Given the description of an element on the screen output the (x, y) to click on. 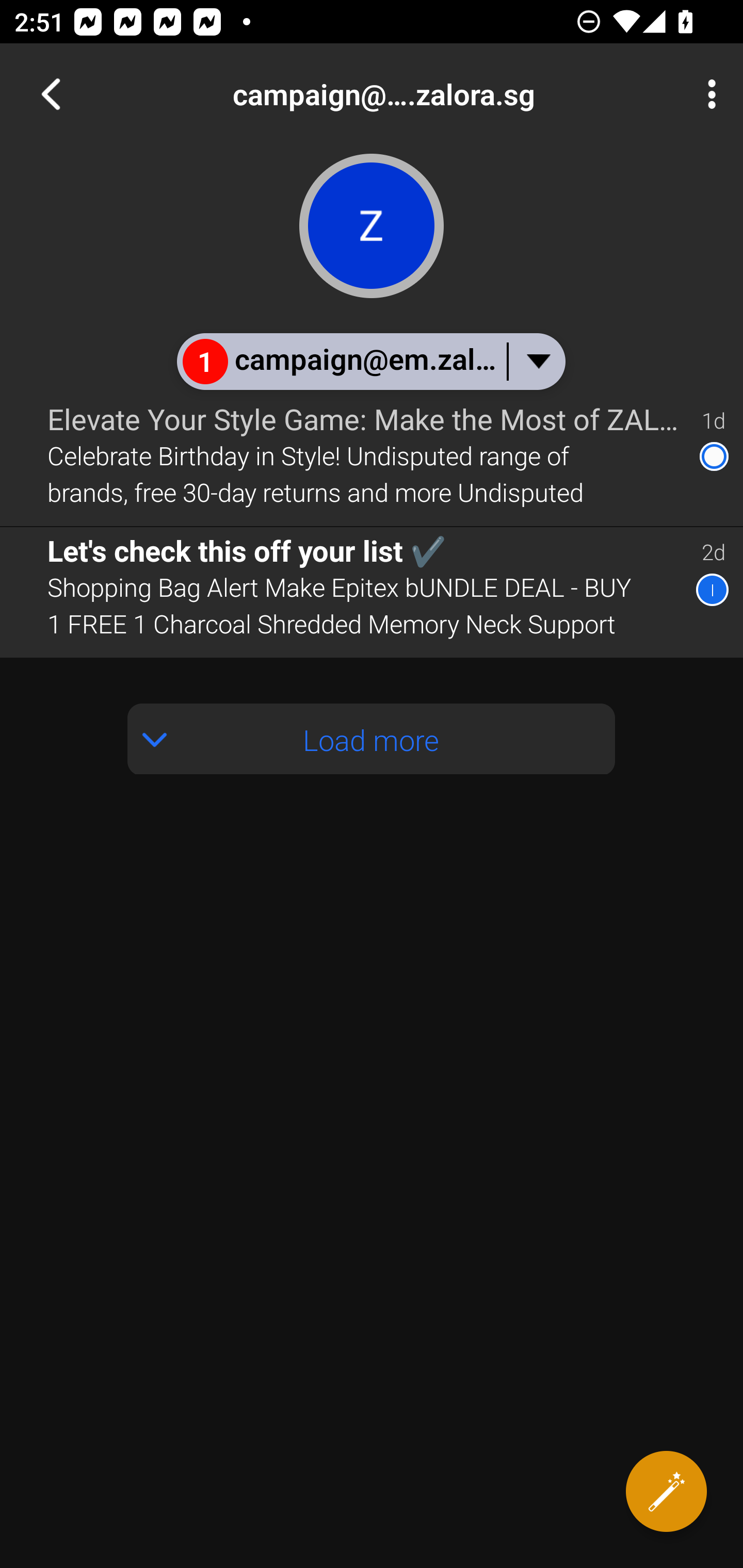
Navigate up (50, 93)
campaign@em.zalora.sg (436, 93)
More Options (706, 93)
1 campaign@em.zalora.sg & You (370, 361)
Load more (371, 739)
